Given the description of an element on the screen output the (x, y) to click on. 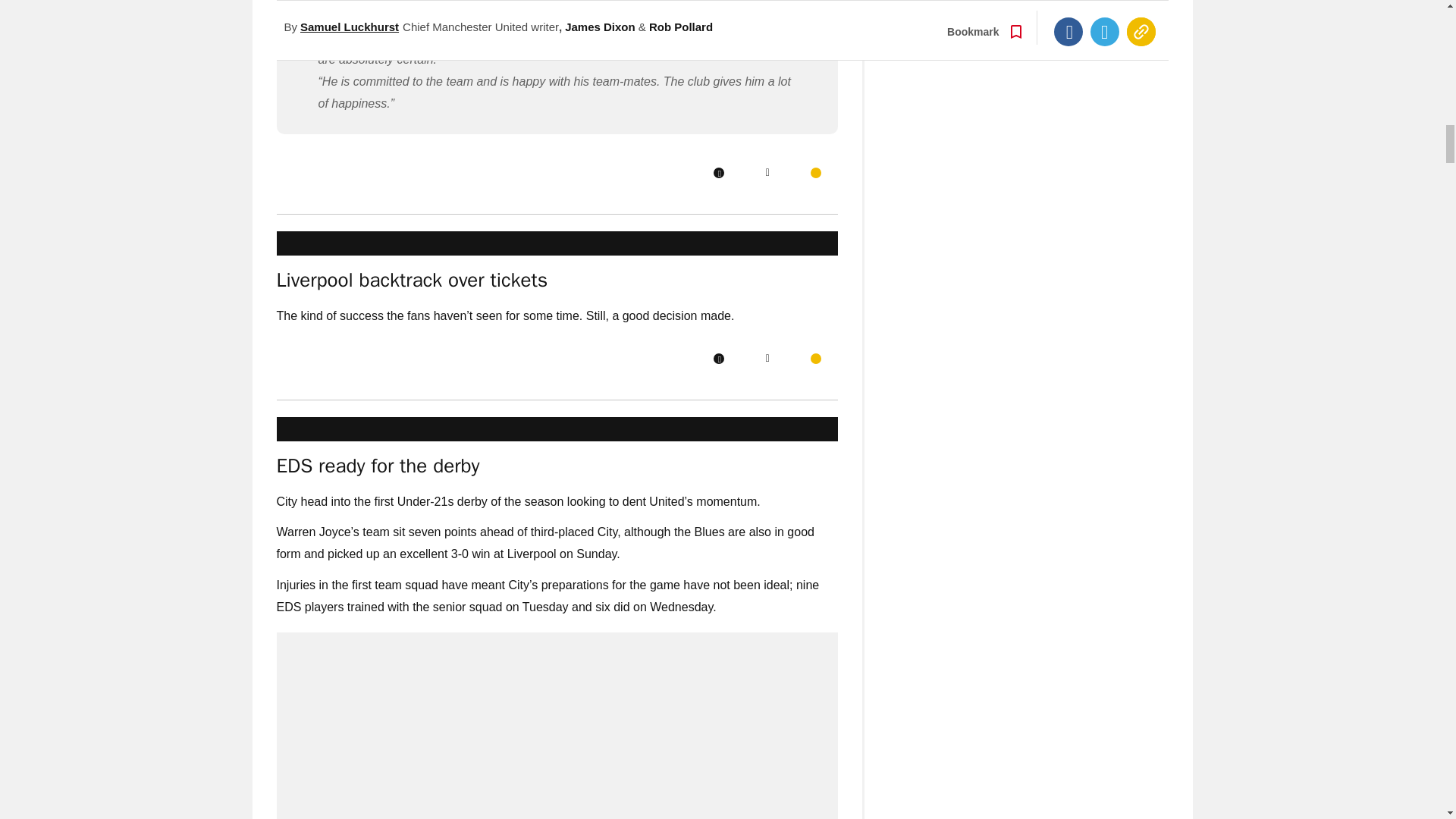
Twitter (767, 357)
Facebook (718, 172)
Facebook (718, 357)
Twitter (767, 172)
